Given the description of an element on the screen output the (x, y) to click on. 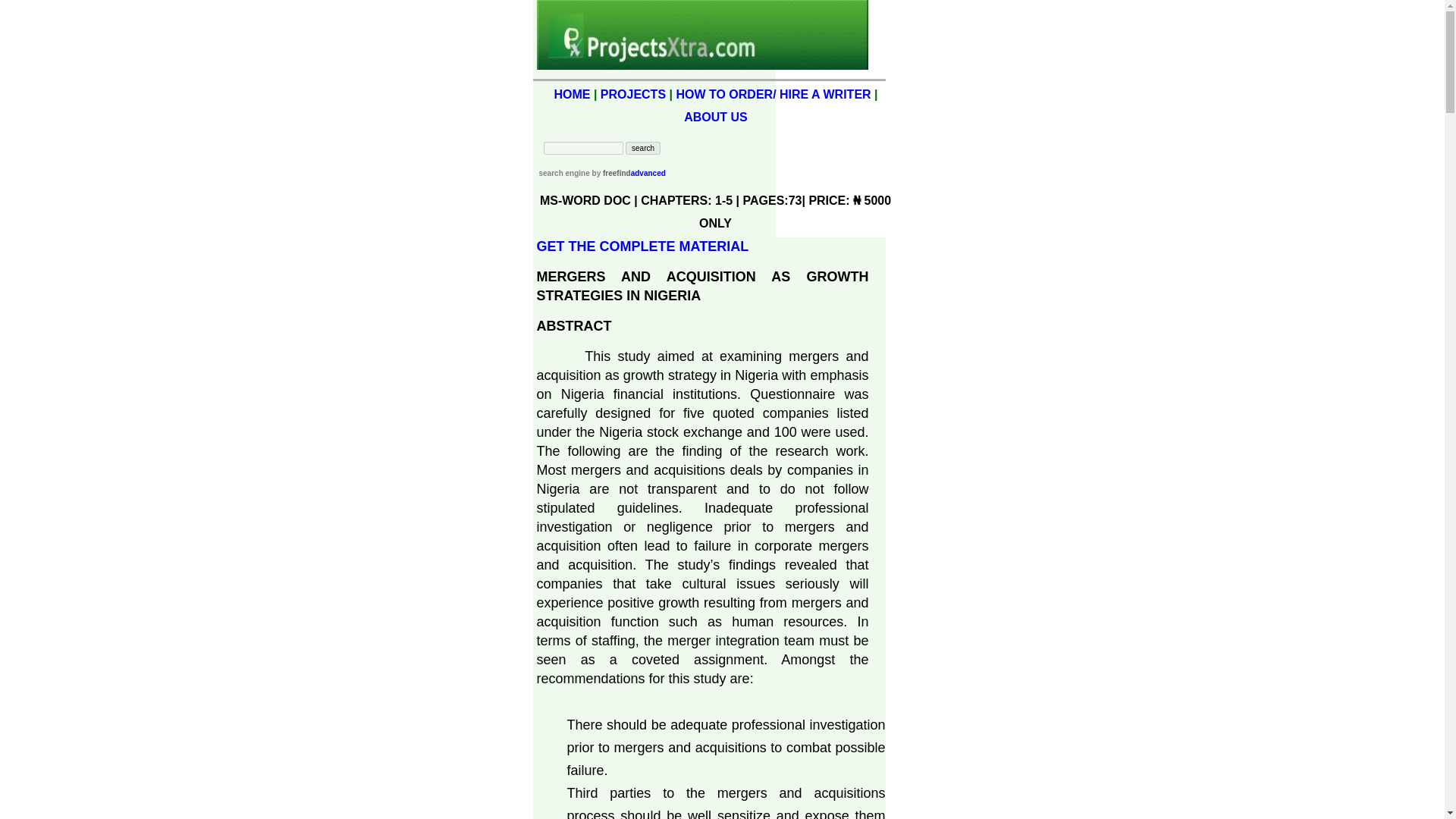
search (643, 147)
GET THE COMPLETE MATERIAL (643, 246)
PROJECTS (632, 93)
HOME (571, 93)
advanced (647, 172)
search (643, 147)
by freefind (609, 172)
ABOUT US (716, 116)
search engine (563, 172)
